Given the description of an element on the screen output the (x, y) to click on. 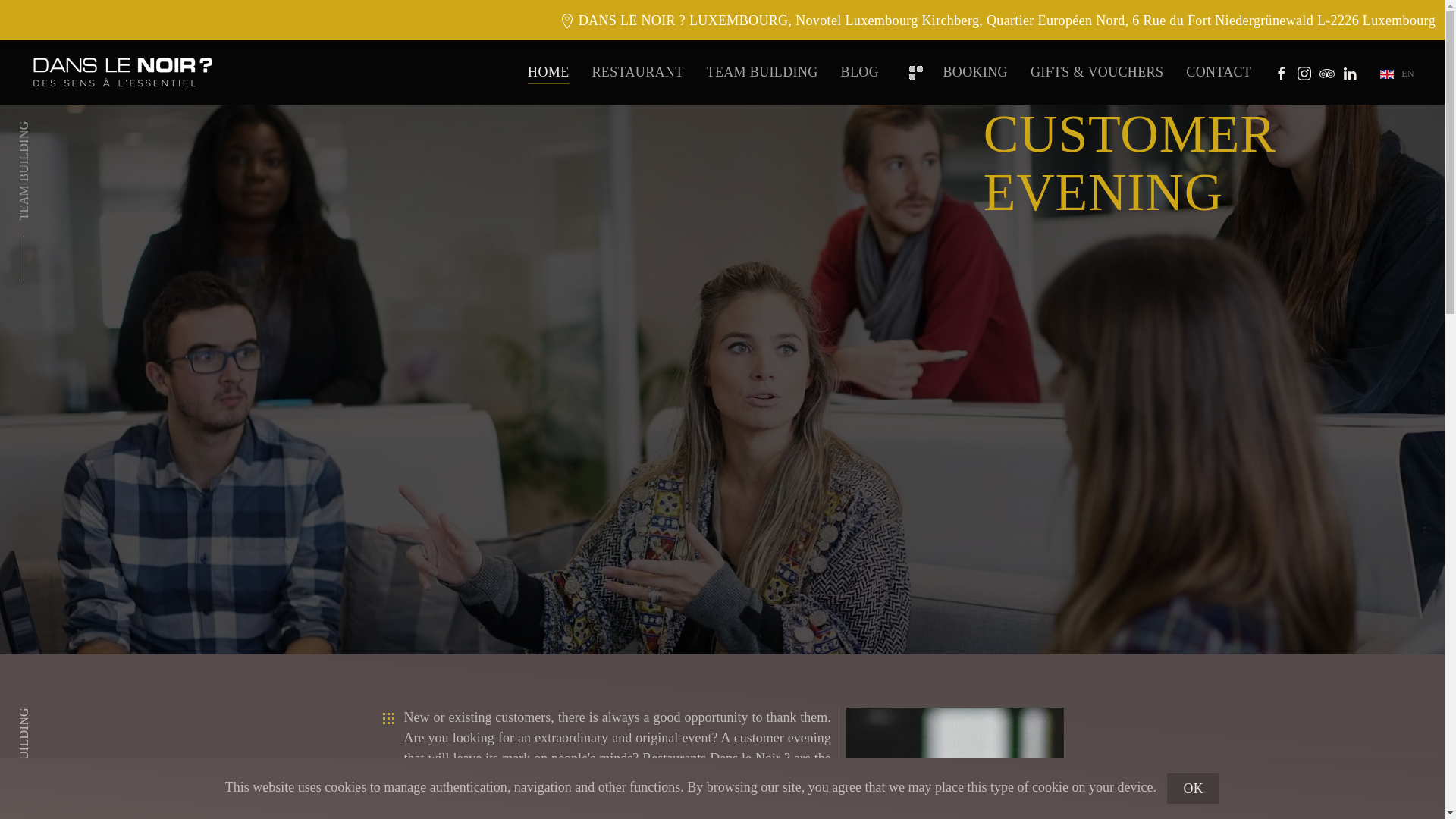
HOME (548, 72)
TEAM BUILDING (762, 72)
CONTACT (1218, 72)
BOOKING (954, 72)
EN (1396, 73)
RESTAURANT (638, 72)
BLOG (860, 72)
